Given the description of an element on the screen output the (x, y) to click on. 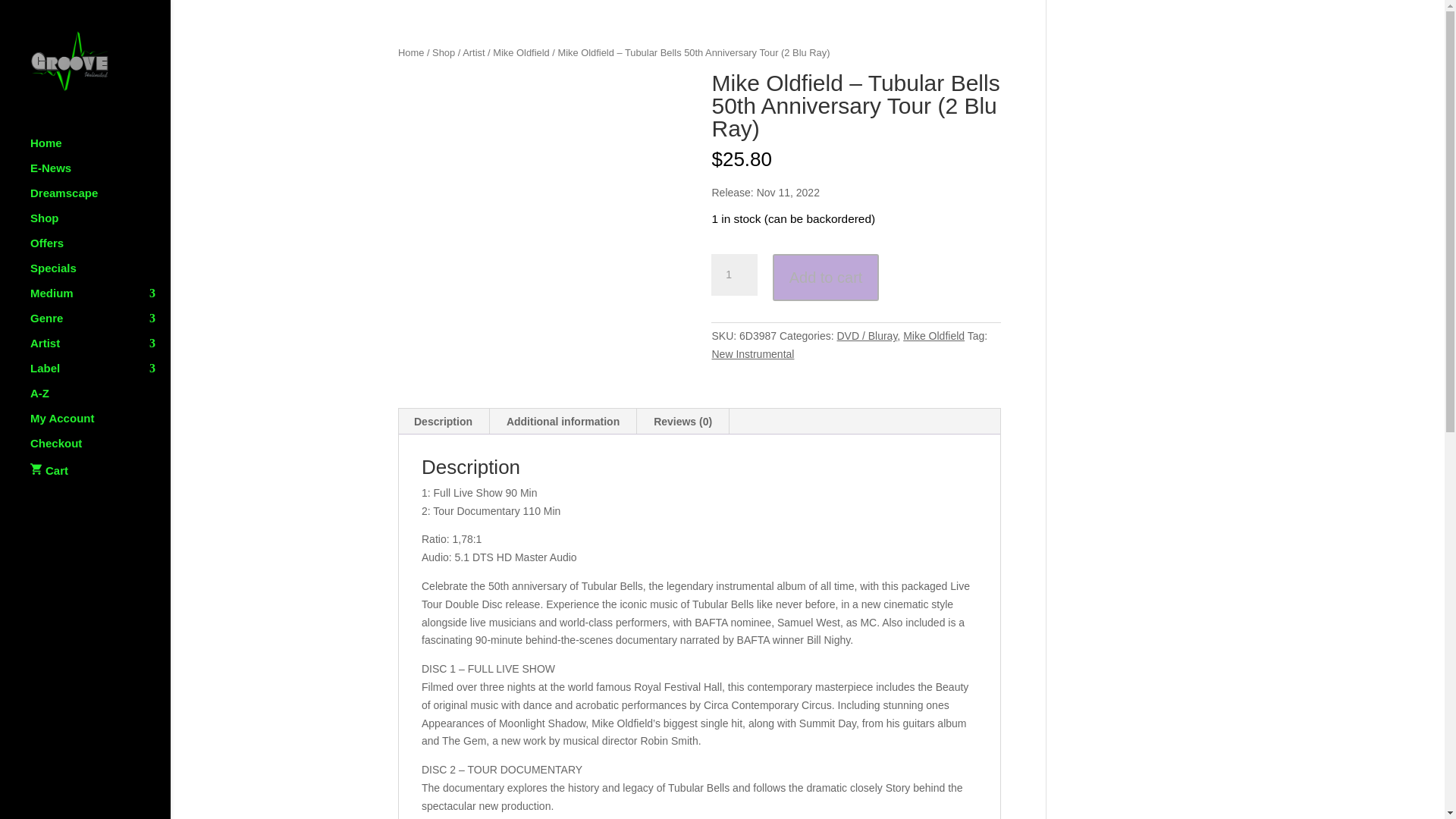
Shop (100, 225)
Artist (100, 350)
E-News (100, 175)
Specials (100, 275)
Genre (100, 325)
Home (100, 150)
1 (734, 274)
Medium (100, 300)
Label (100, 375)
Dreamscape (100, 200)
Offers (100, 250)
